Given the description of an element on the screen output the (x, y) to click on. 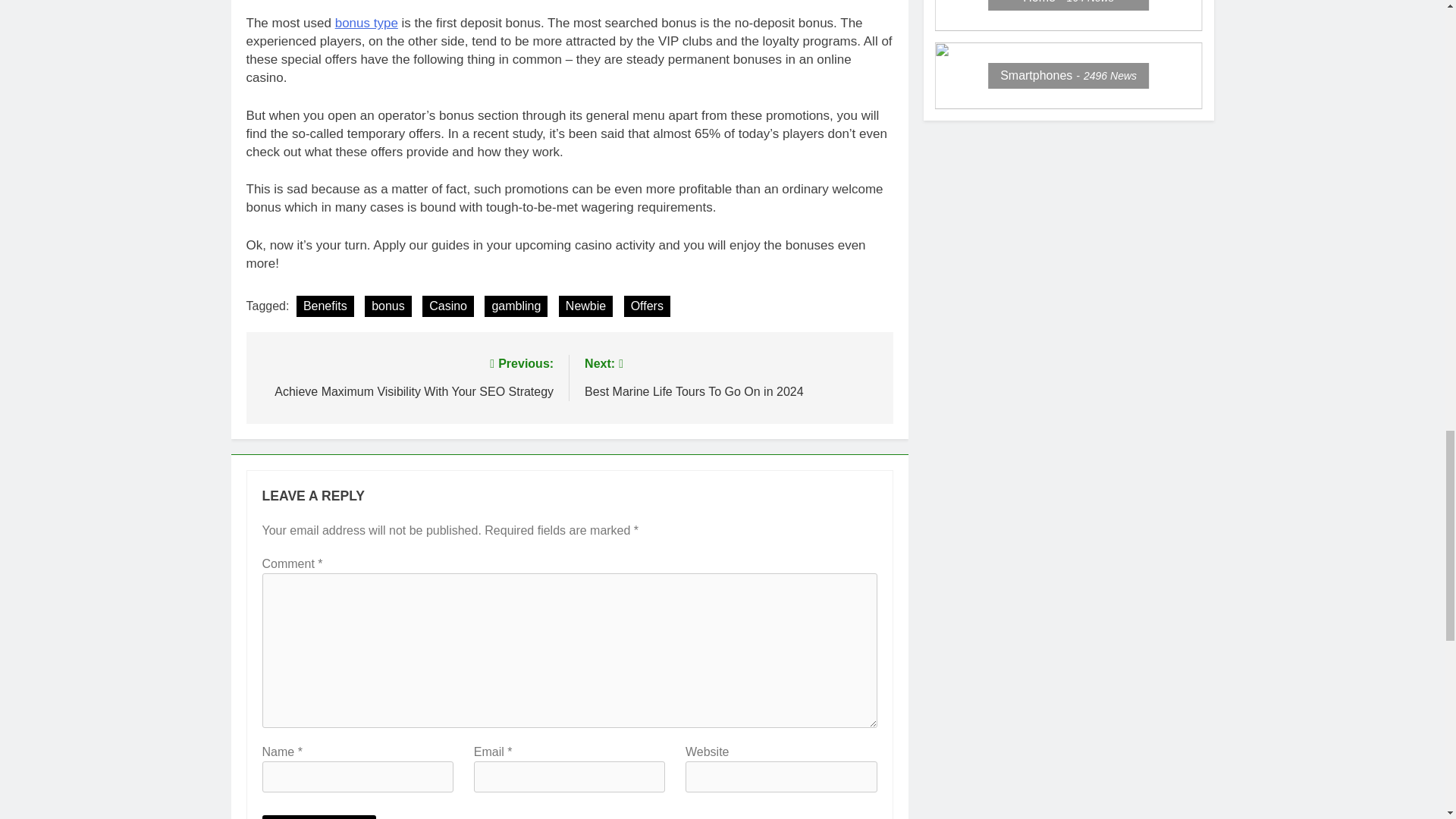
Post Comment (319, 816)
gambling (515, 305)
Benefits (325, 305)
Newbie (585, 305)
bonus (388, 305)
Offers (646, 305)
Casino (448, 305)
bonus type (365, 22)
